Given the description of an element on the screen output the (x, y) to click on. 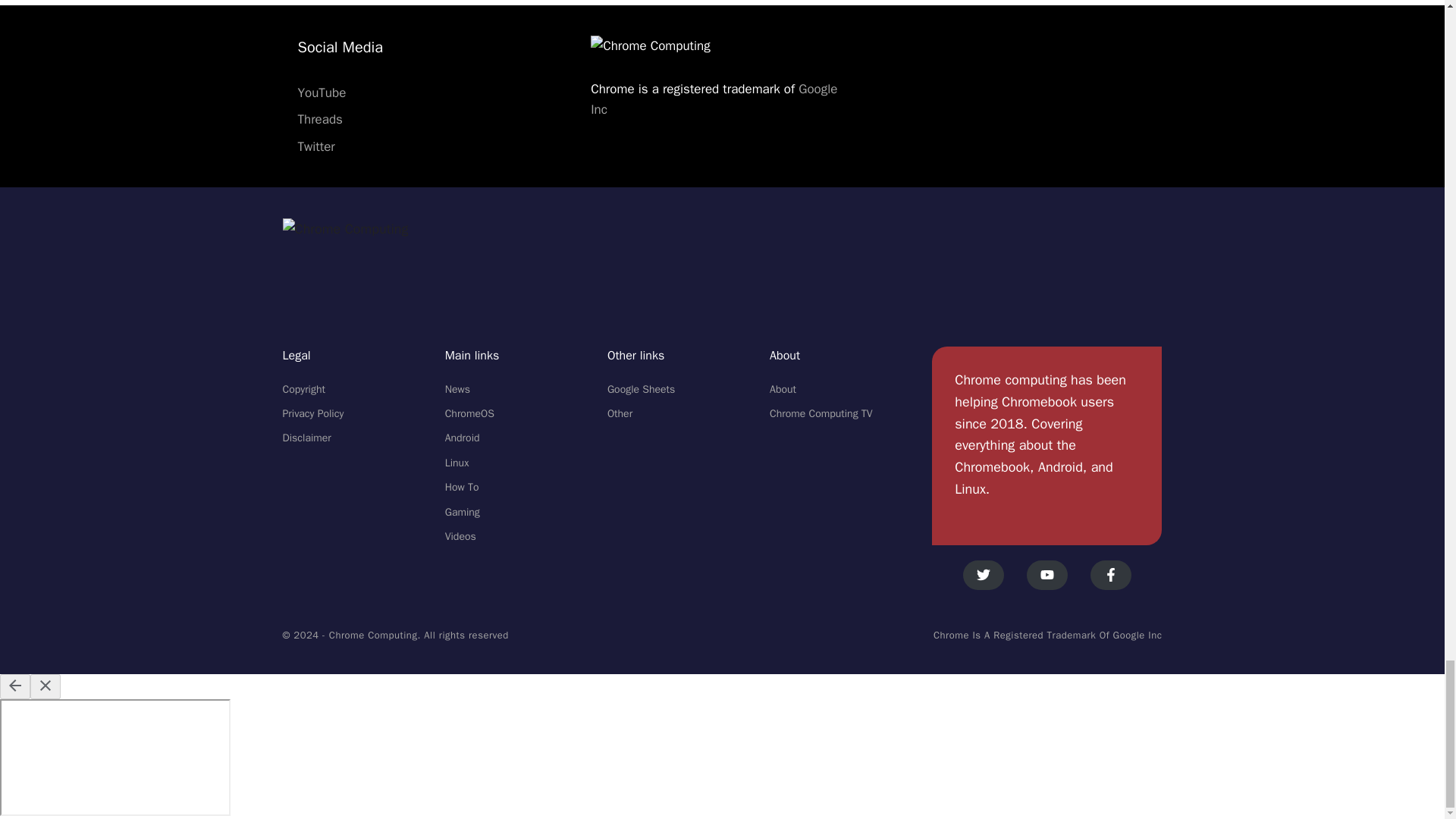
chrome-computing-logo-small-standard (344, 229)
